Given the description of an element on the screen output the (x, y) to click on. 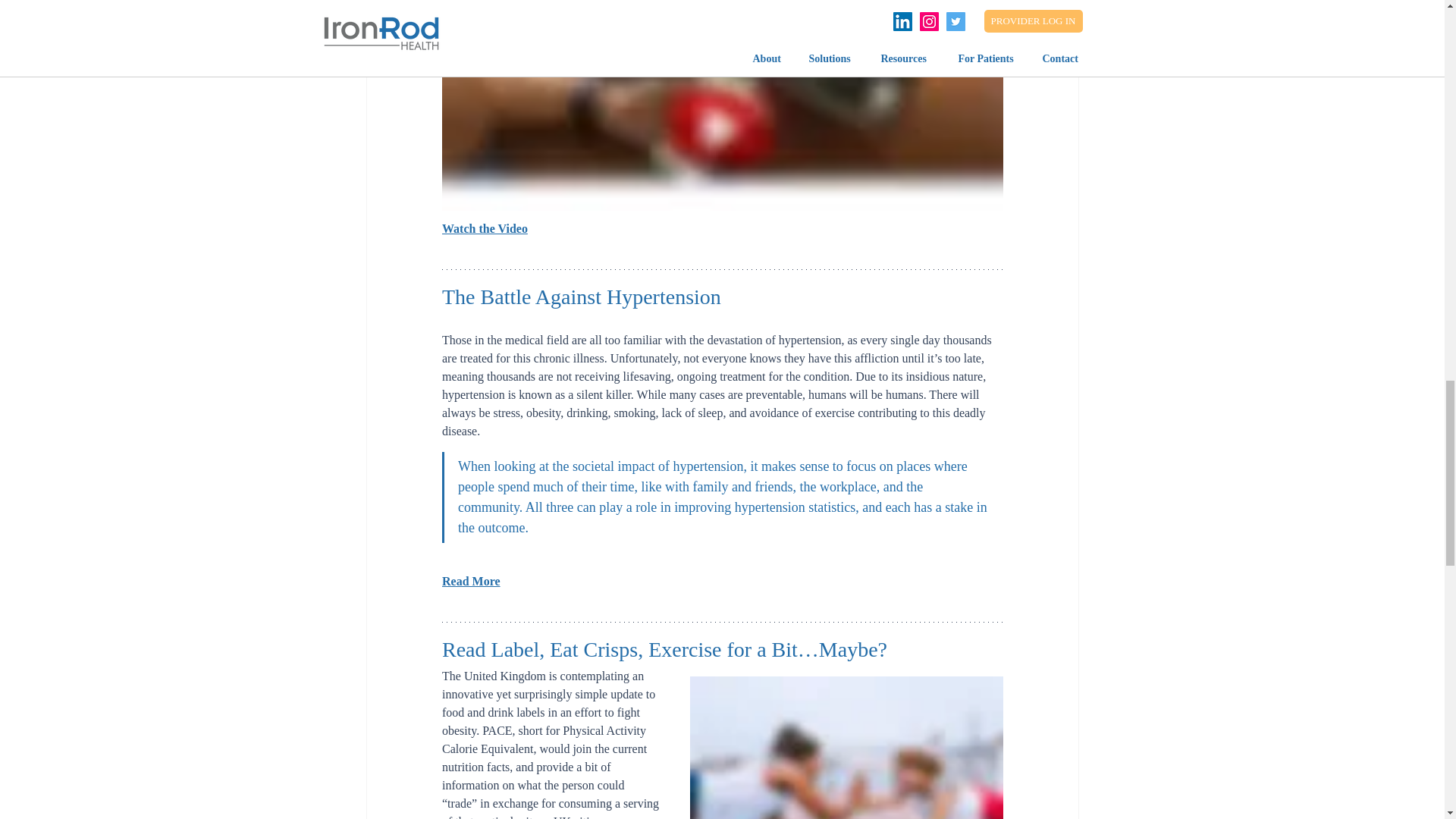
Watch the Video (484, 227)
Read More (470, 581)
